Given the description of an element on the screen output the (x, y) to click on. 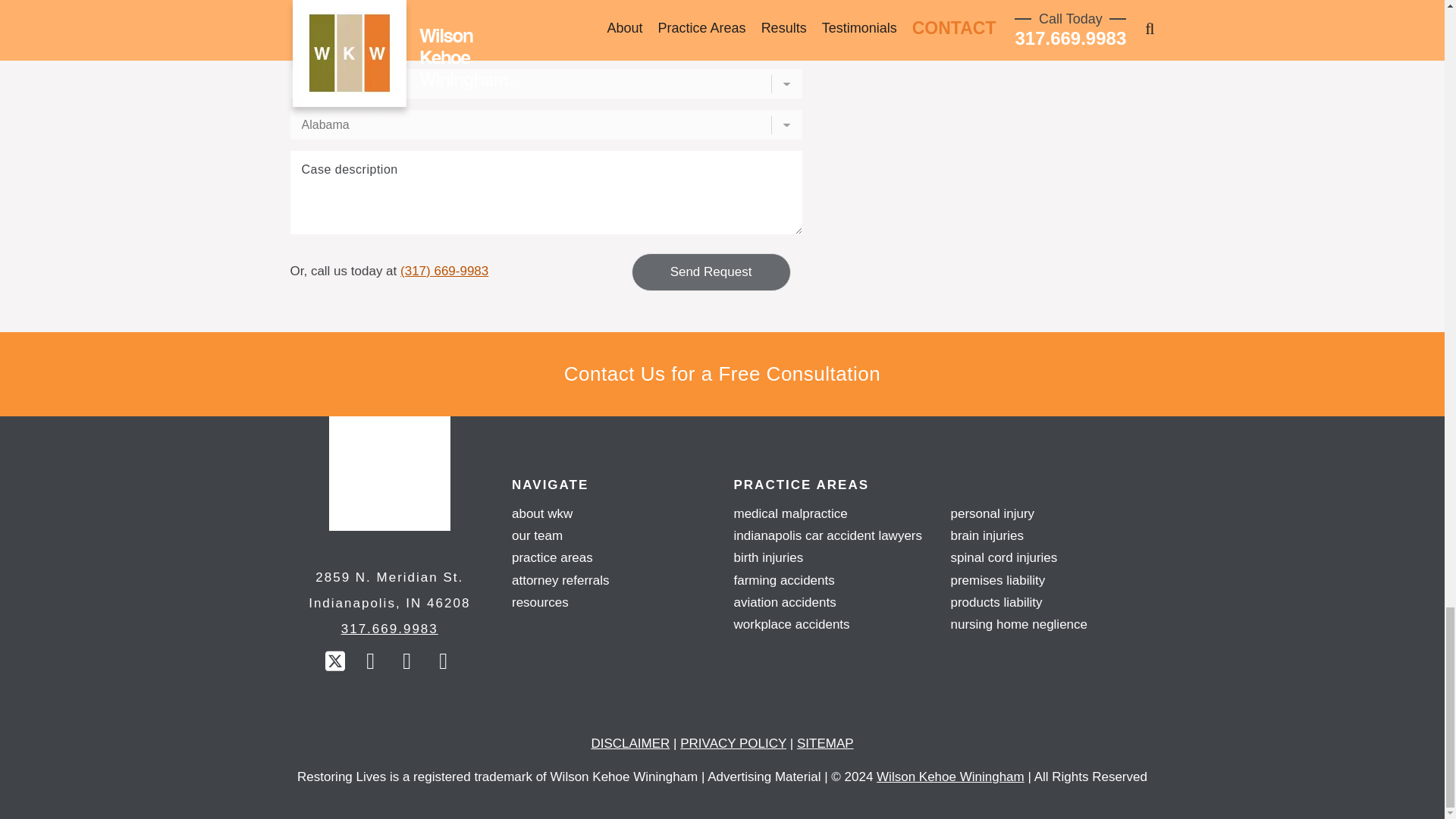
Send Request (710, 272)
